Given the description of an element on the screen output the (x, y) to click on. 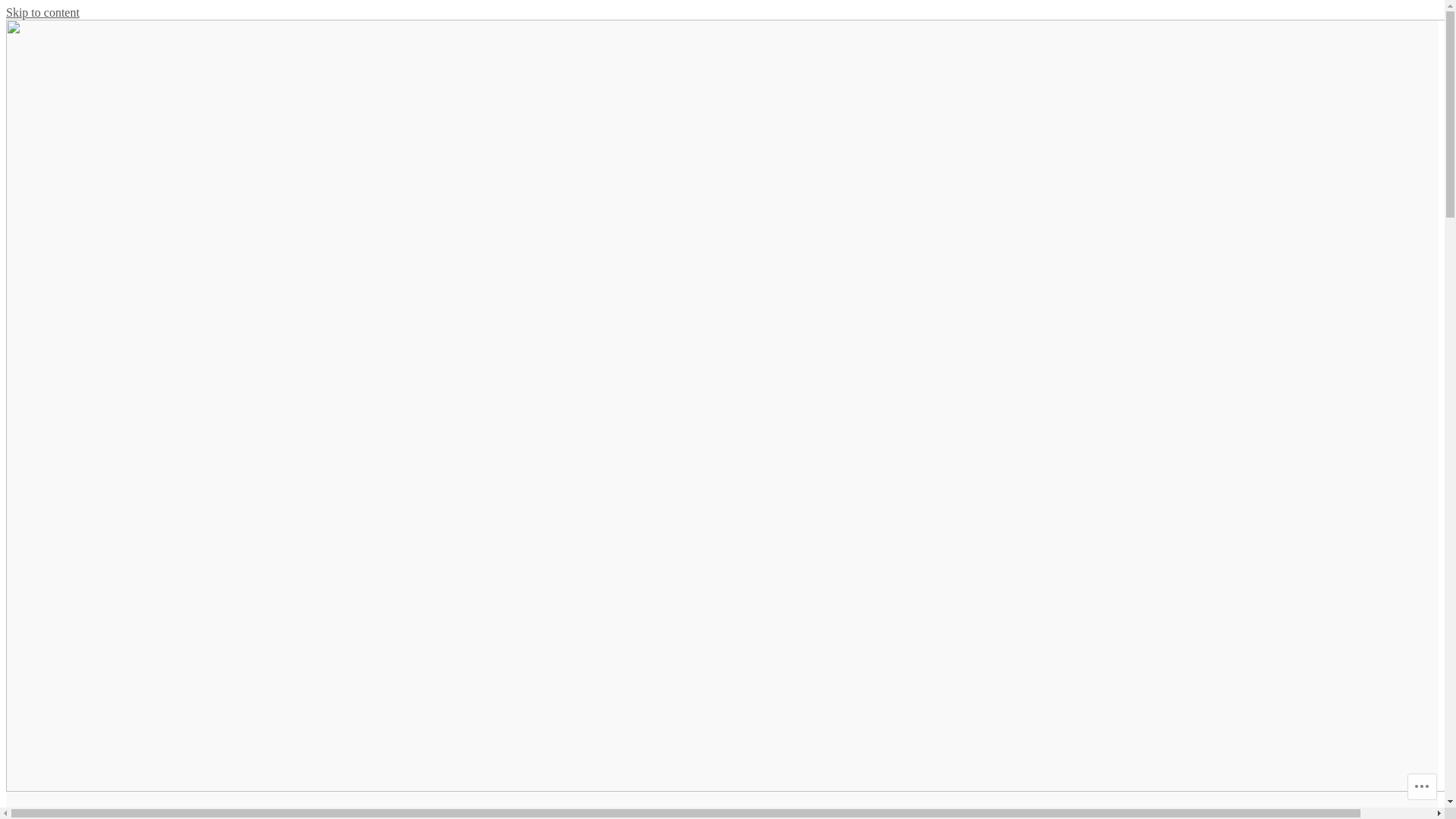
Skip to content Element type: text (42, 12)
